Given the description of an element on the screen output the (x, y) to click on. 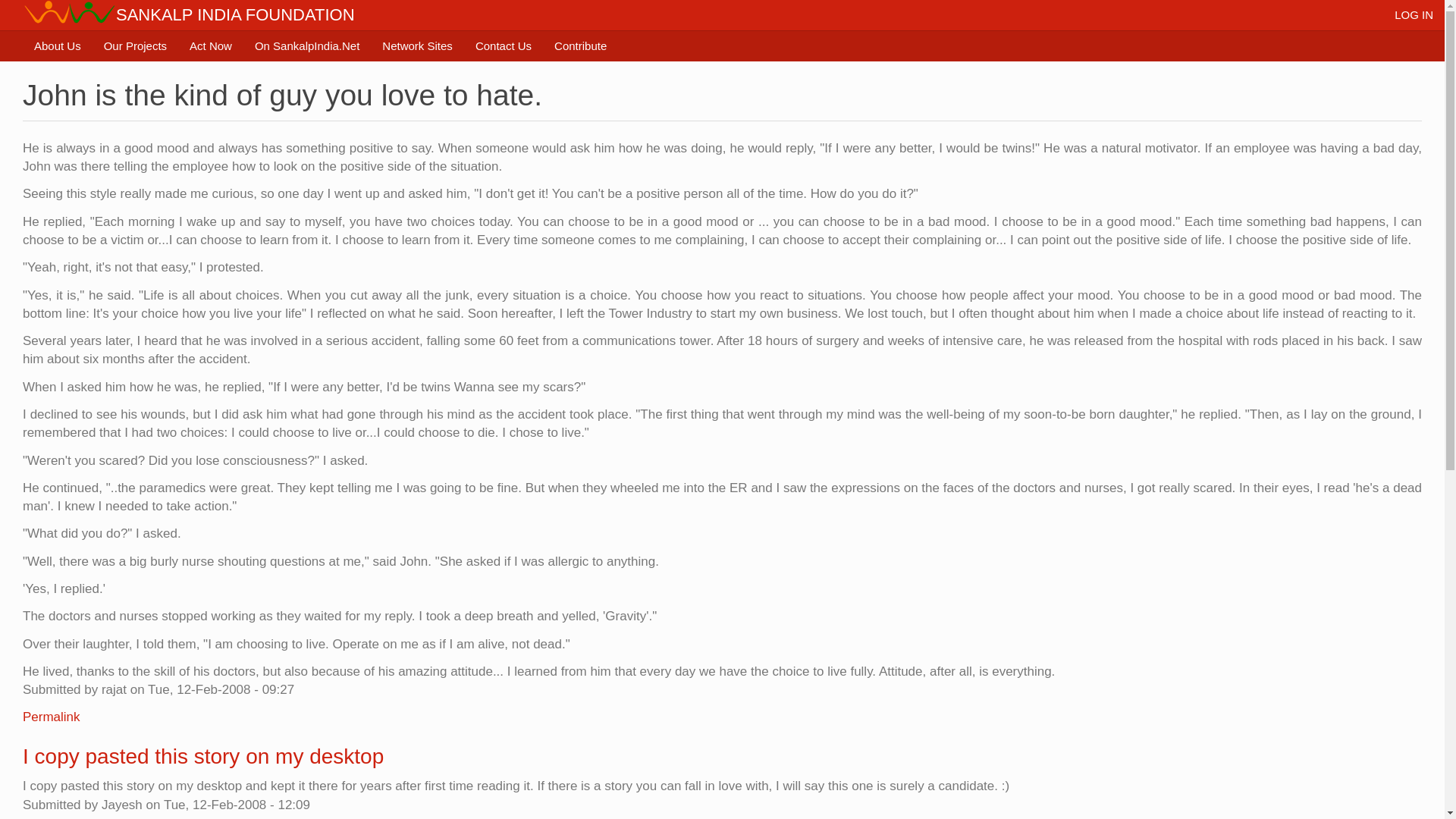
Act Now (210, 46)
Our Projects (135, 46)
Home (235, 15)
SANKALP INDIA FOUNDATION (235, 15)
These are the things you can get started with (210, 46)
Home (69, 12)
On SankalpIndia.Net (307, 46)
Various things on SankalpIndia.Net (307, 46)
About Us (58, 46)
Get to know more about Sankalp (58, 46)
These are the activities undertaken by Sankalp (135, 46)
